Given the description of an element on the screen output the (x, y) to click on. 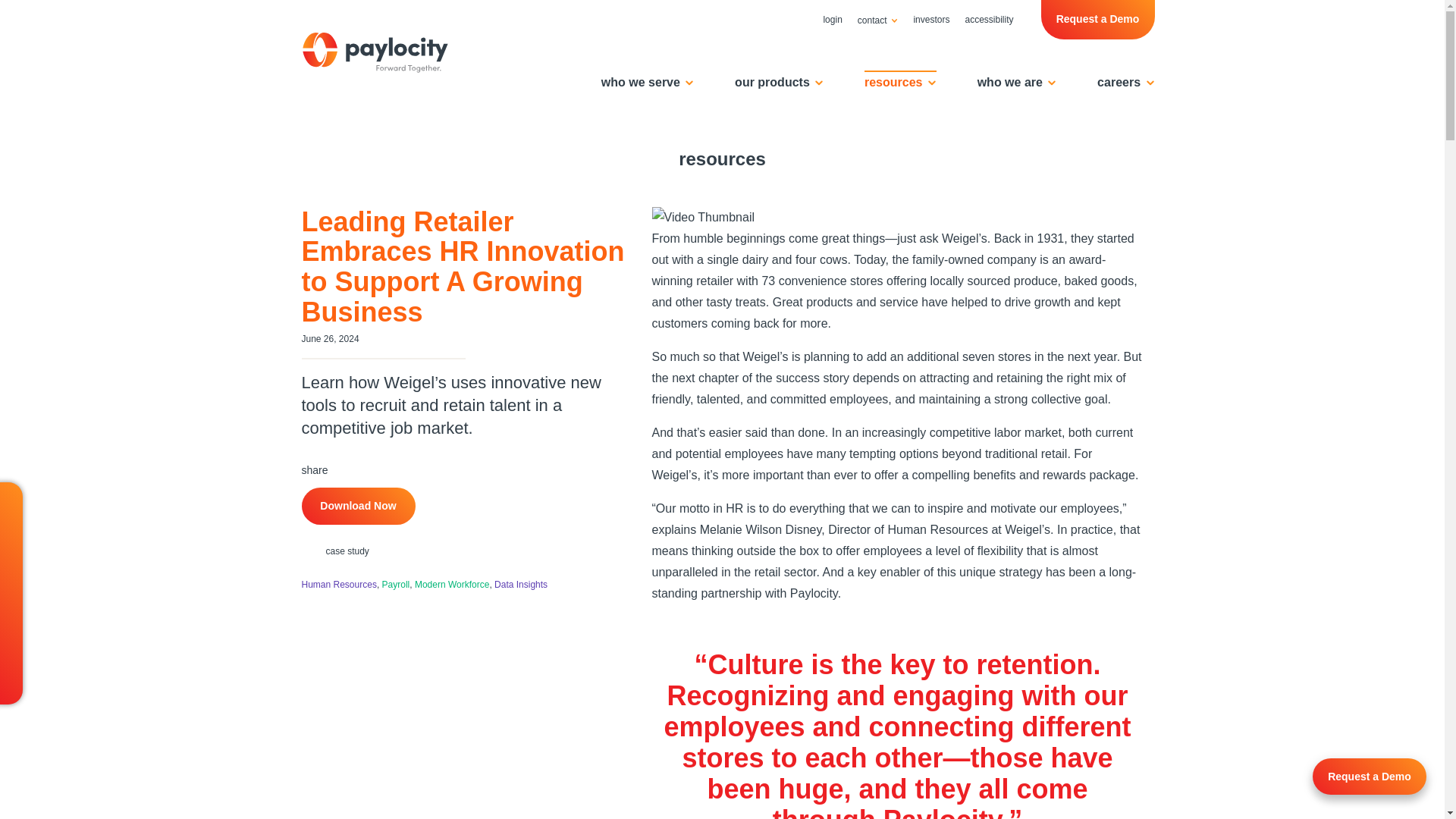
login (831, 19)
Request a Demo (1097, 19)
our products (779, 84)
investors (931, 19)
Request a Demo (1097, 19)
investors (931, 19)
Accessibility (988, 19)
accessibility (988, 19)
Who We Serve (647, 84)
contact (877, 20)
